Given the description of an element on the screen output the (x, y) to click on. 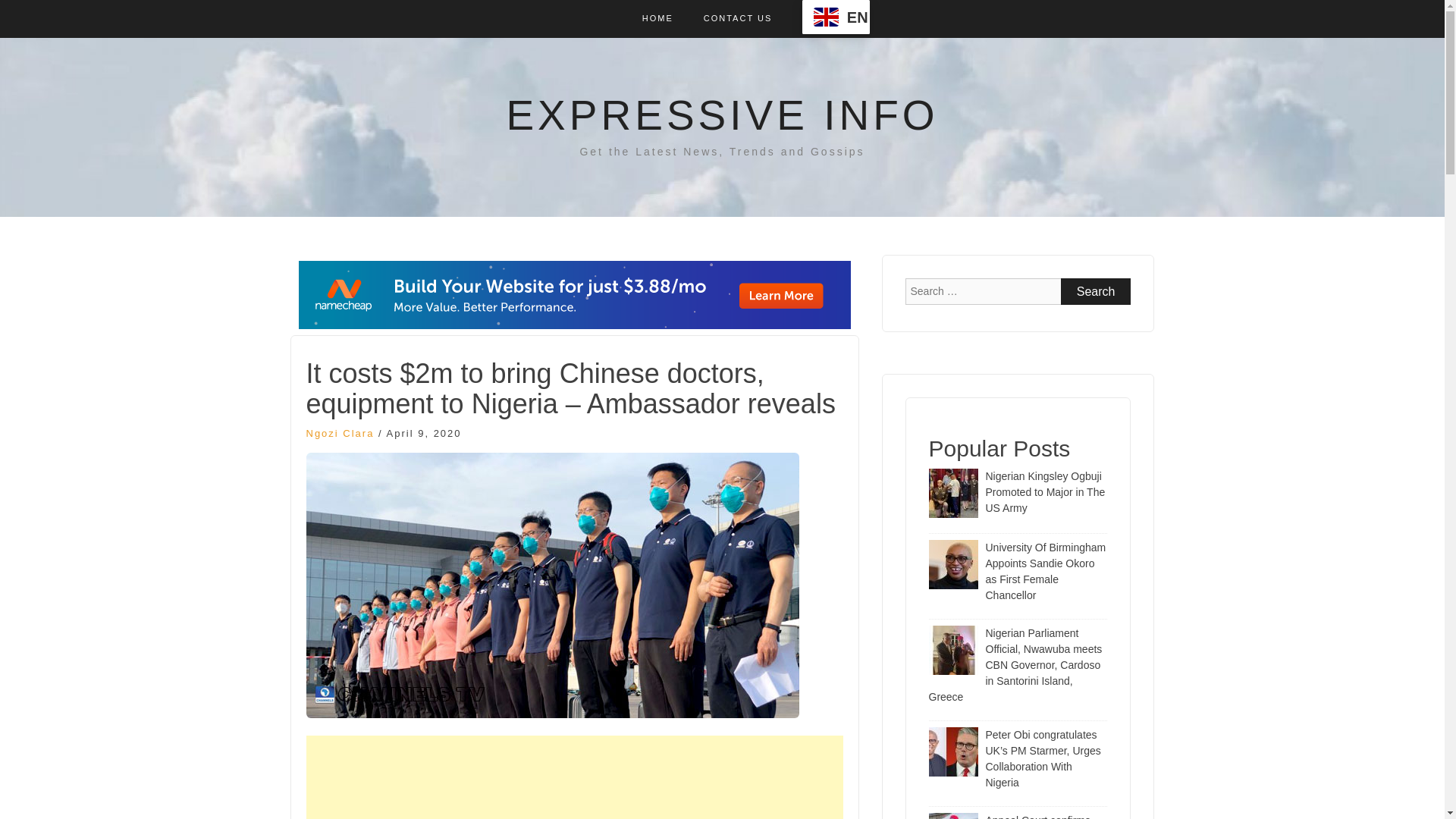
Advertisement (574, 777)
Search (1096, 291)
Search (1096, 291)
CONTACT US (738, 18)
